Given the description of an element on the screen output the (x, y) to click on. 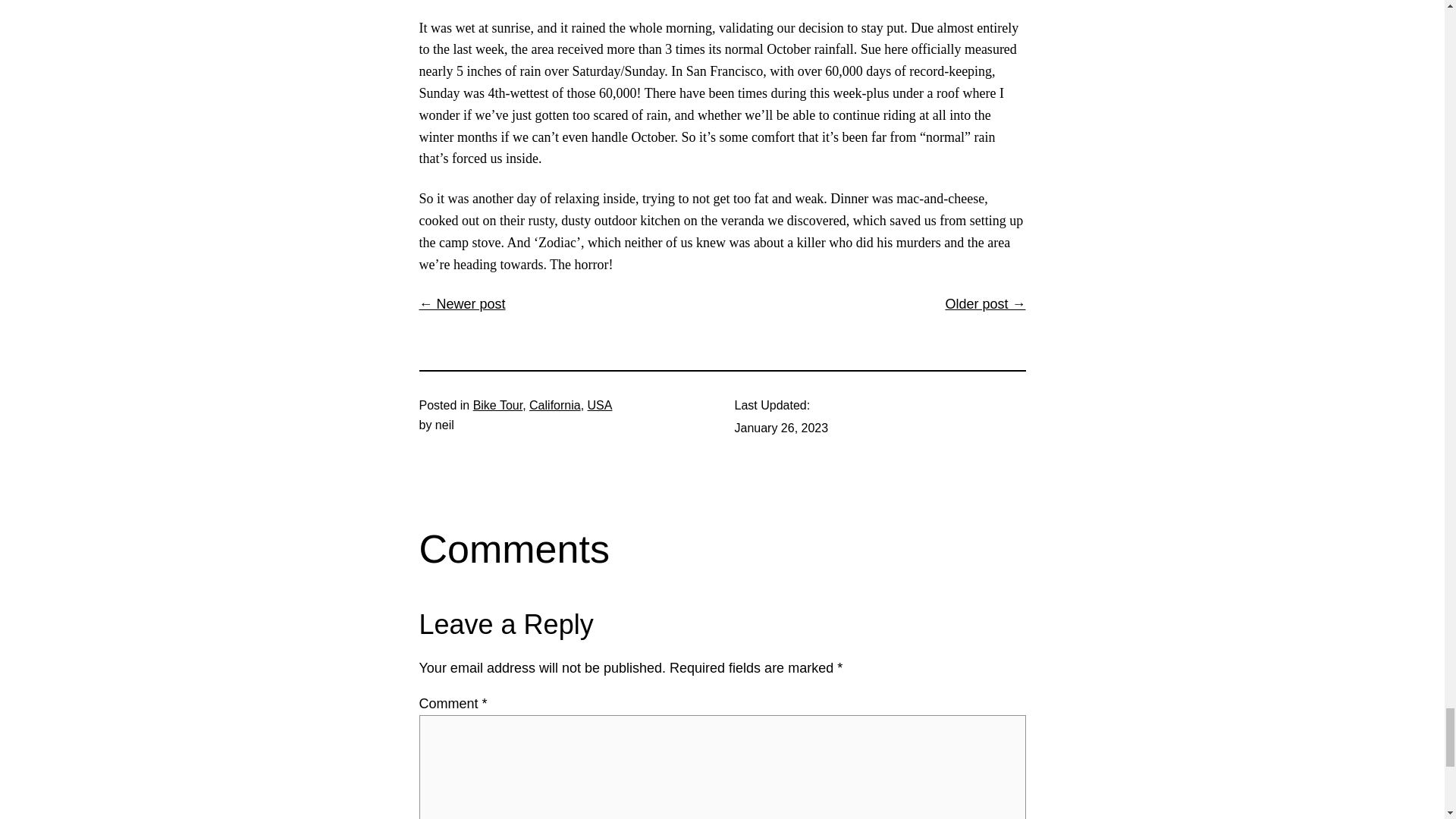
Bike Tour (497, 404)
California (554, 404)
USA (600, 404)
